Given the description of an element on the screen output the (x, y) to click on. 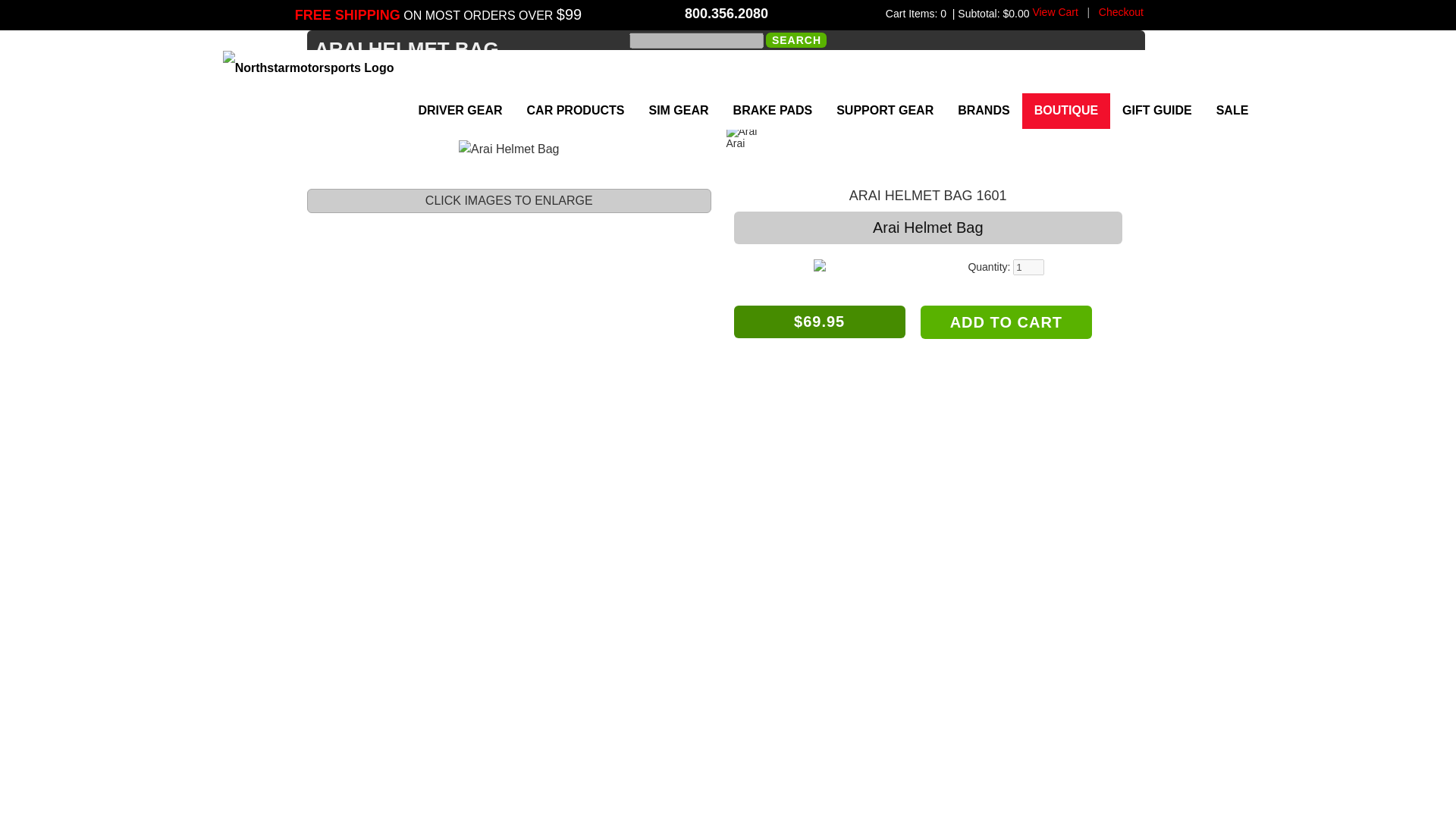
View Cart (1054, 11)
800.356.2080 (726, 13)
1 (1028, 267)
CAR PRODUCTS (575, 110)
Search (796, 39)
Search (796, 39)
DRIVER GEAR (459, 110)
Checkout (1120, 11)
